Given the description of an element on the screen output the (x, y) to click on. 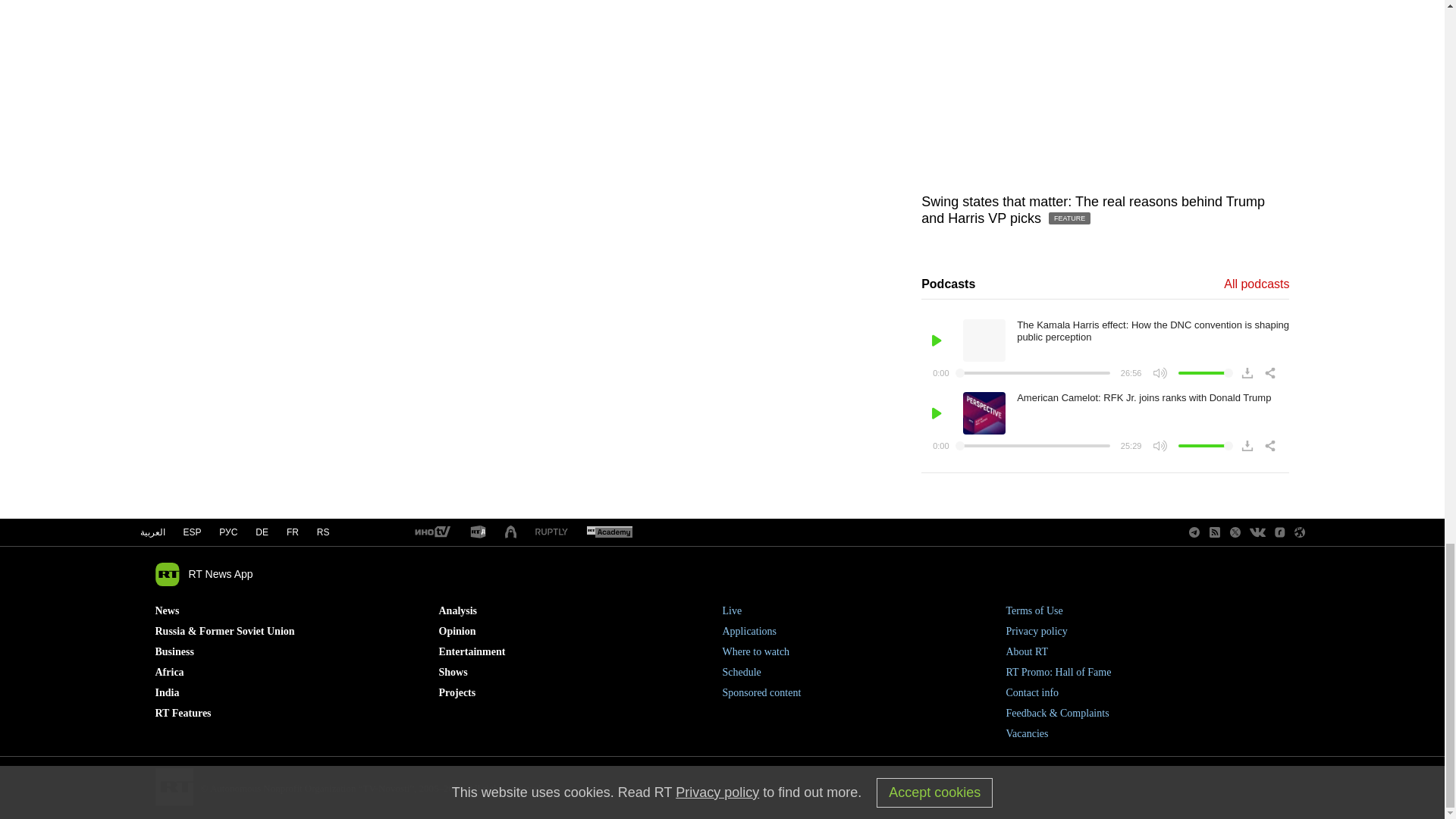
RT  (431, 532)
RT  (608, 532)
RT  (478, 532)
RT  (551, 532)
